Given the description of an element on the screen output the (x, y) to click on. 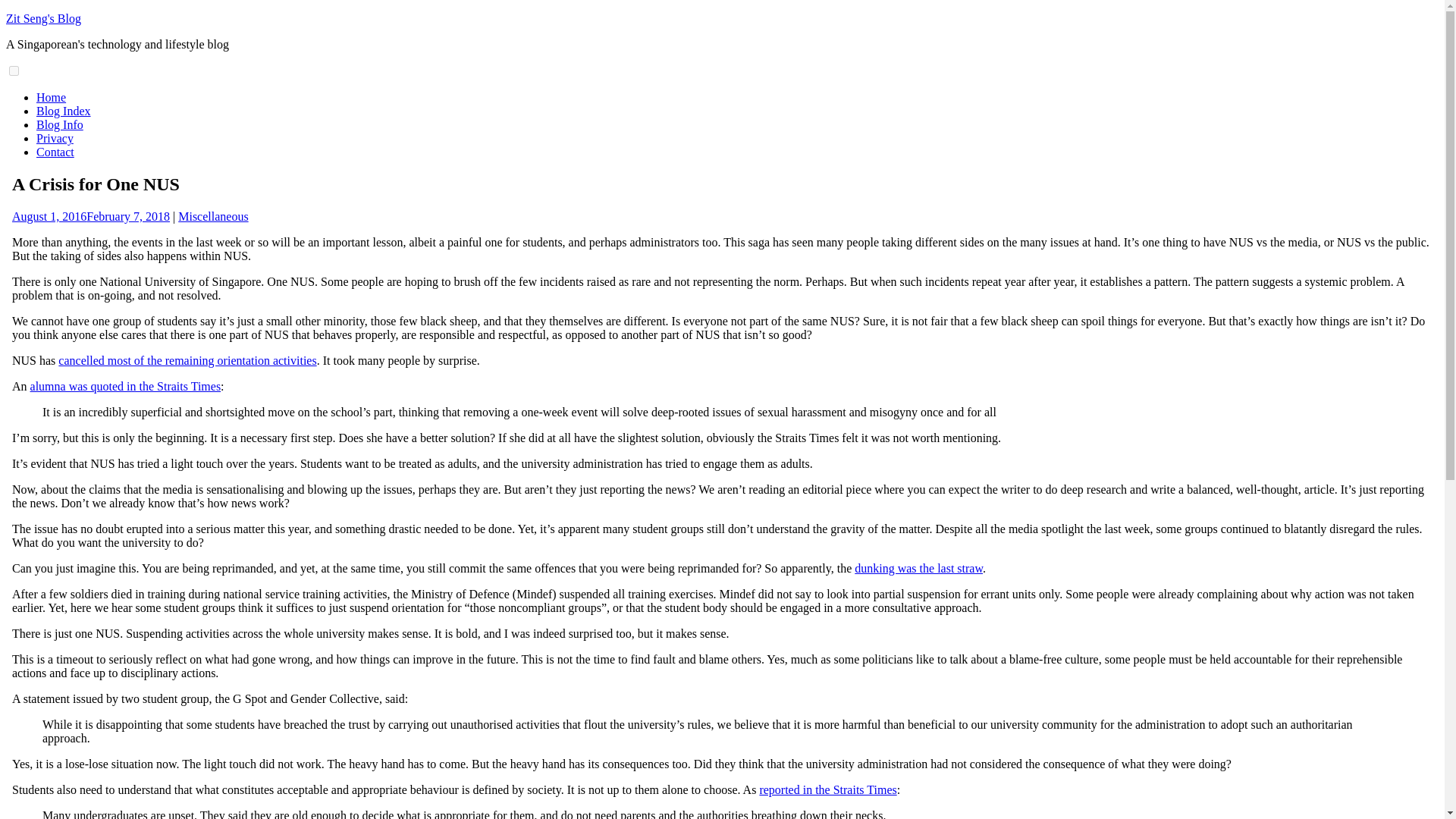
August 1, 2016February 7, 2018 (90, 215)
Blog Index (63, 110)
cancelled most of the remaining orientation activities (186, 359)
Zit Seng's Blog (43, 18)
Home (50, 97)
on (13, 71)
Contact (55, 151)
Privacy (55, 137)
Miscellaneous (212, 215)
Blog Info (59, 124)
